Given the description of an element on the screen output the (x, y) to click on. 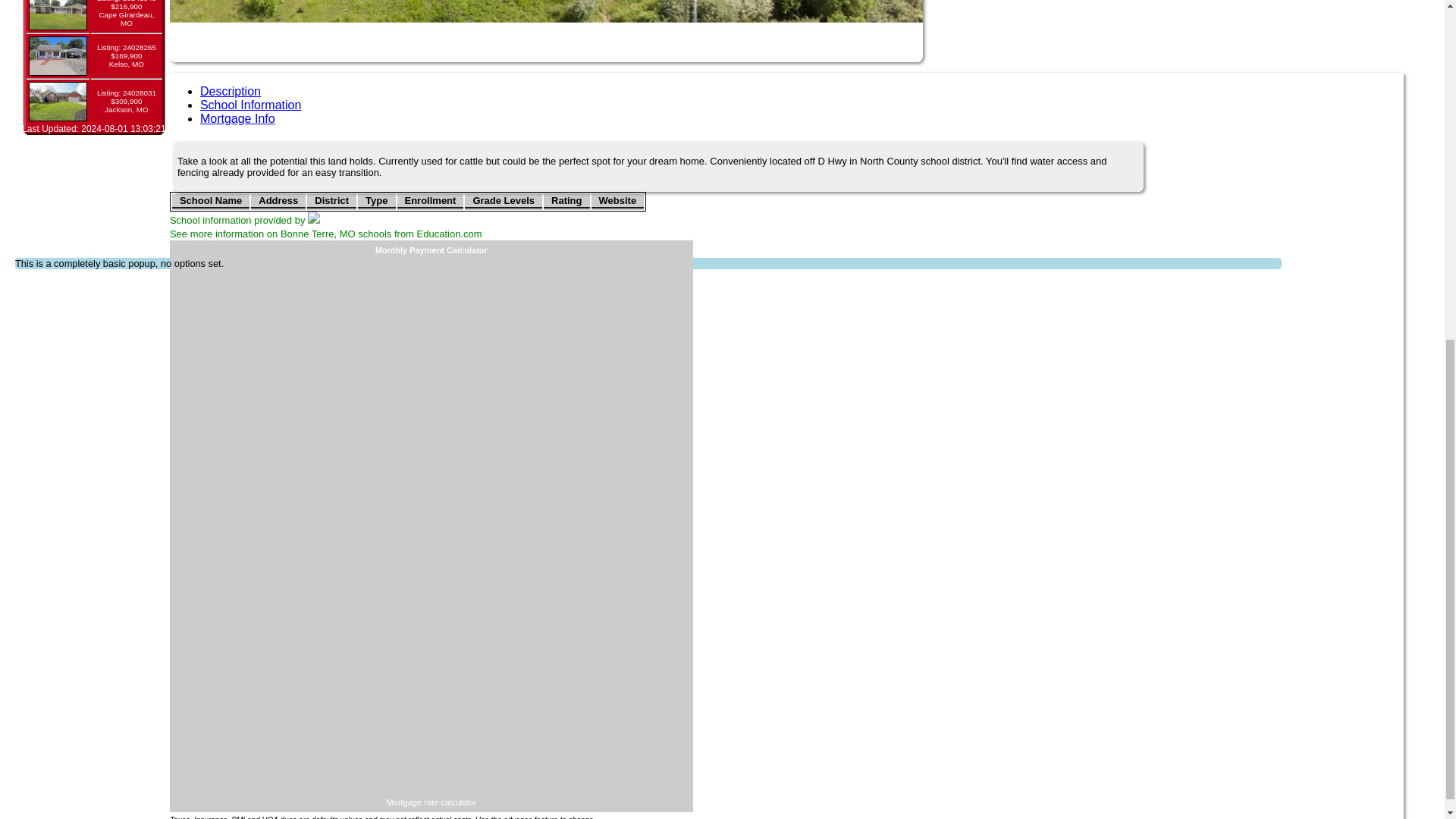
Mortgage Info (237, 118)
Description (230, 91)
School Information (250, 104)
